Given the description of an element on the screen output the (x, y) to click on. 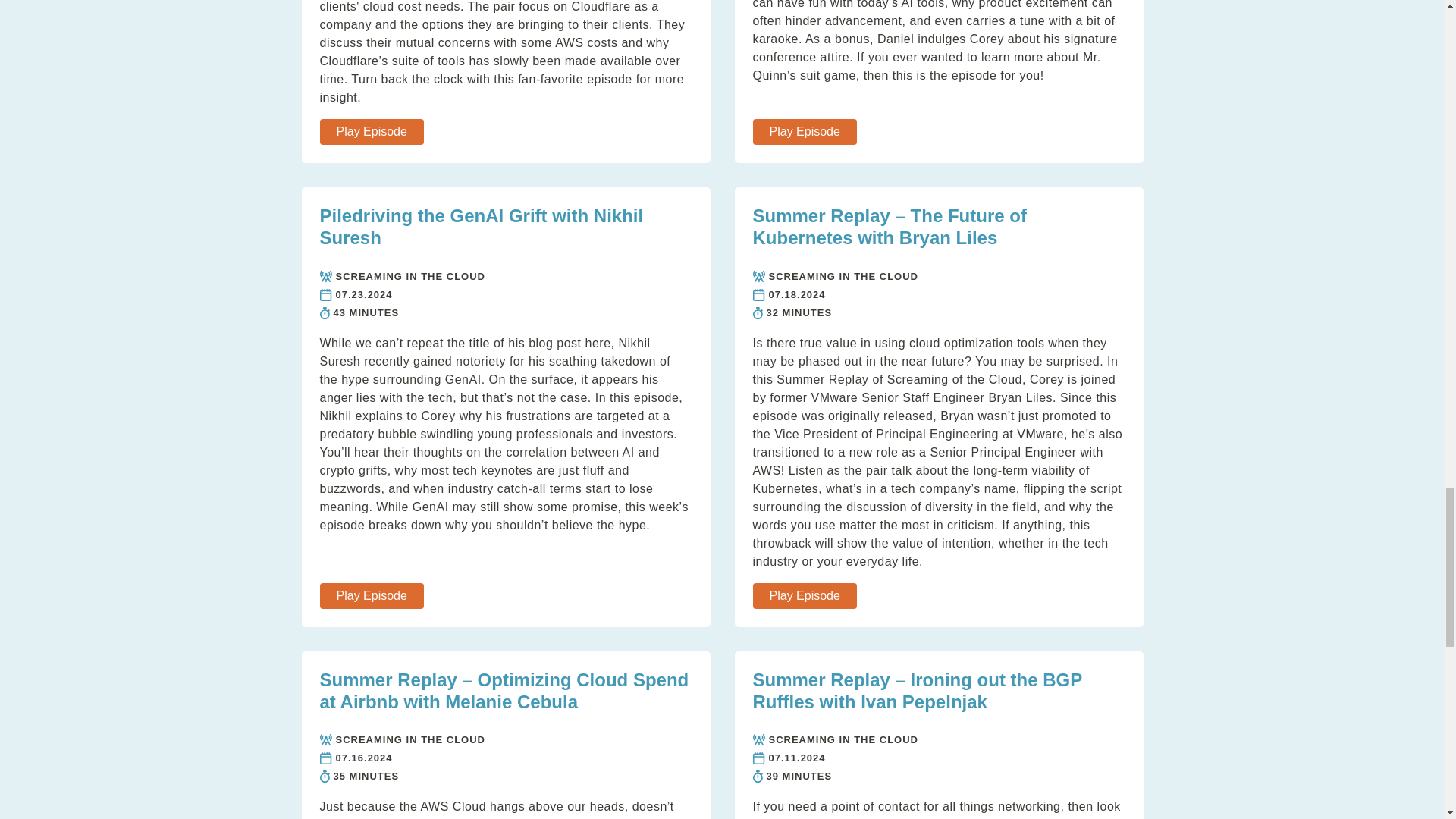
Piledriving the GenAI Grift with Nikhil Suresh (481, 226)
Play Episode (371, 131)
Play Episode (804, 131)
